Given the description of an element on the screen output the (x, y) to click on. 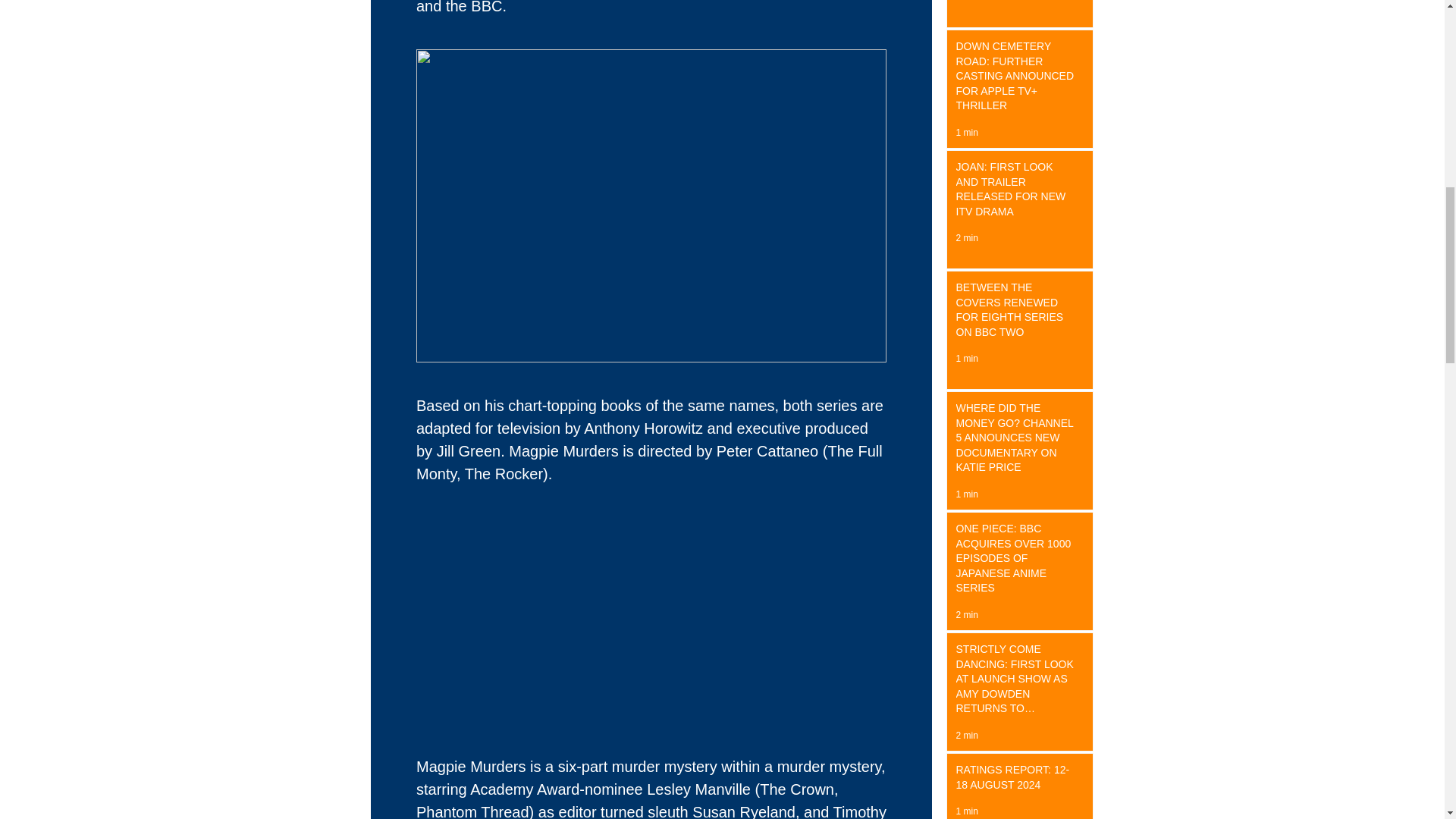
JOAN: FIRST LOOK AND TRAILER RELEASED FOR NEW ITV DRAMA (1014, 192)
2 min (965, 735)
2 min (965, 237)
RATINGS REPORT: 12-18 AUGUST 2024 (1014, 780)
3 min (965, 1)
1 min (965, 357)
2 min (965, 614)
1 min (965, 132)
BETWEEN THE COVERS RENEWED FOR EIGHTH SERIES ON BBC TWO (1014, 312)
